Given the description of an element on the screen output the (x, y) to click on. 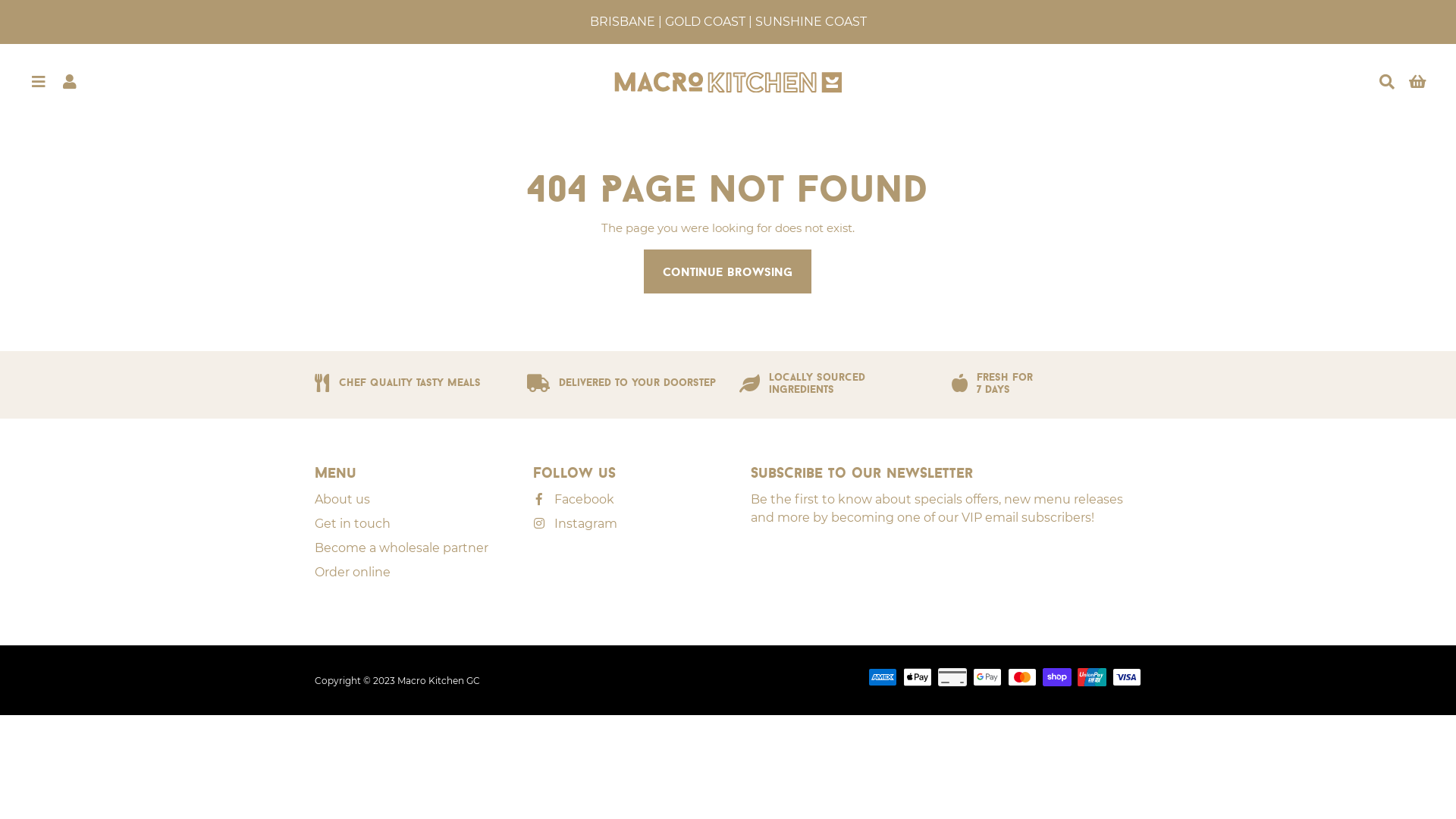
Become a wholesale partner Element type: text (401, 548)
Macro Kitchen GC Element type: text (438, 680)
Facebook Element type: text (572, 499)
Cart Element type: text (1417, 81)
Get in touch Element type: text (352, 523)
Instagram Element type: text (574, 523)
About us Element type: text (342, 499)
Log In Element type: text (68, 81)
Menu Element type: text (37, 81)
Continue browsing Element type: text (727, 270)
Search Element type: text (1386, 81)
Order online Element type: text (352, 572)
Macro Kitchen GC Element type: text (727, 81)
